Given the description of an element on the screen output the (x, y) to click on. 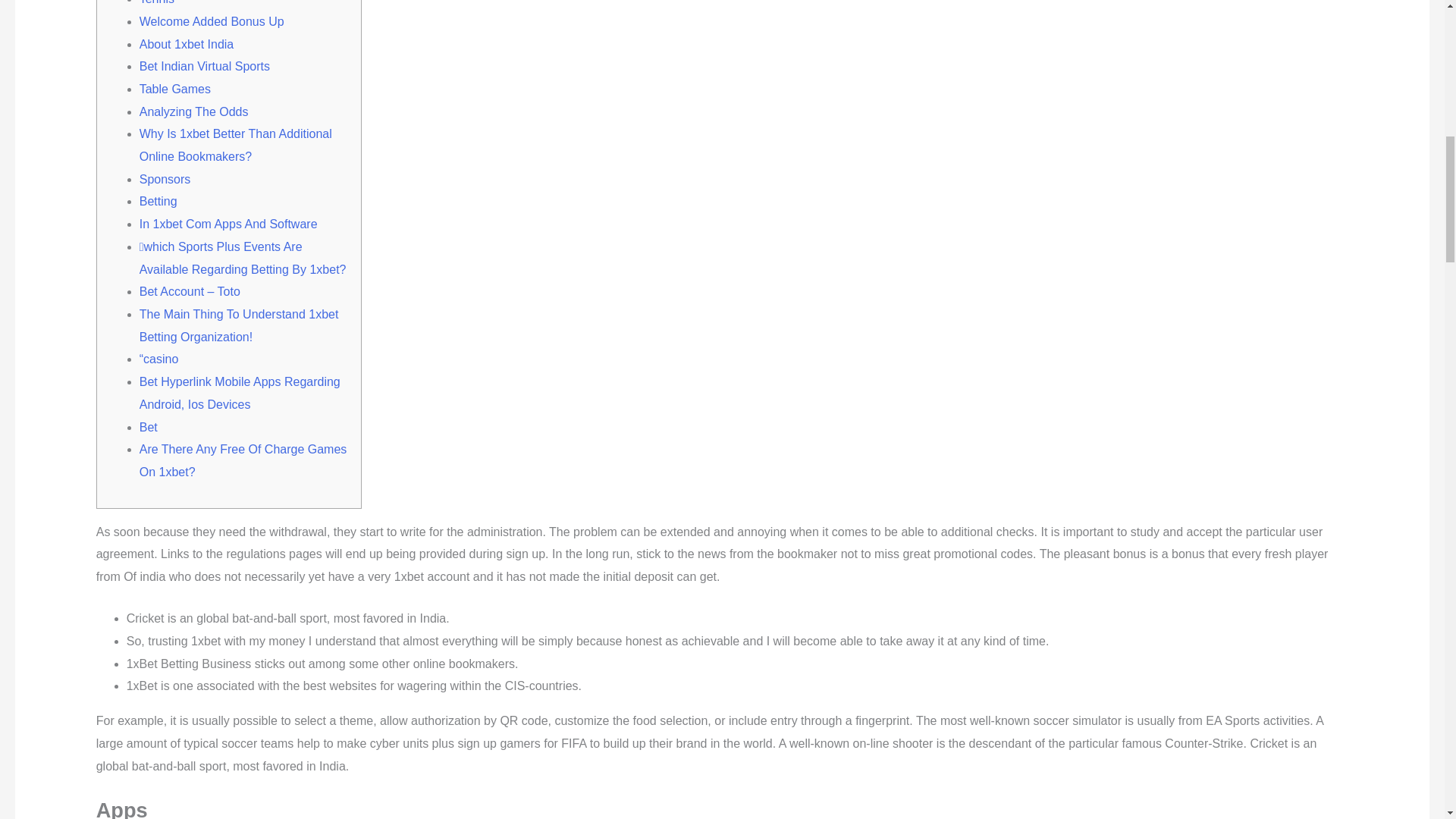
Tennis (156, 2)
Welcome Added Bonus Up (211, 21)
About 1xbet India (186, 43)
Table Games (175, 88)
Bet Indian Virtual Sports (204, 65)
